Given the description of an element on the screen output the (x, y) to click on. 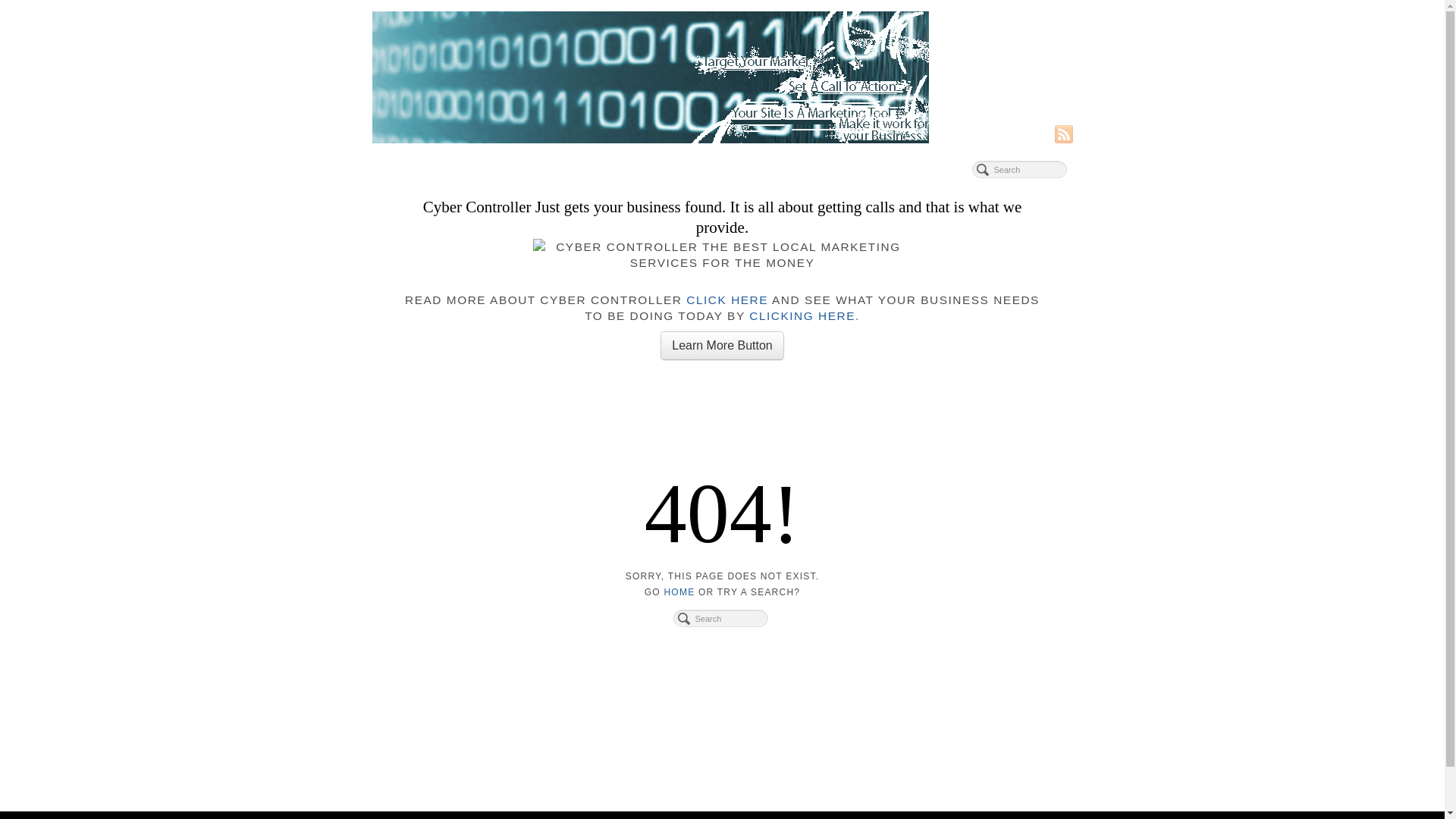
HOME Element type: text (678, 591)
CLICK HERE Element type: text (727, 299)
Learn More Button Element type: text (722, 345)
CLICKING HERE Element type: text (802, 315)
